Given the description of an element on the screen output the (x, y) to click on. 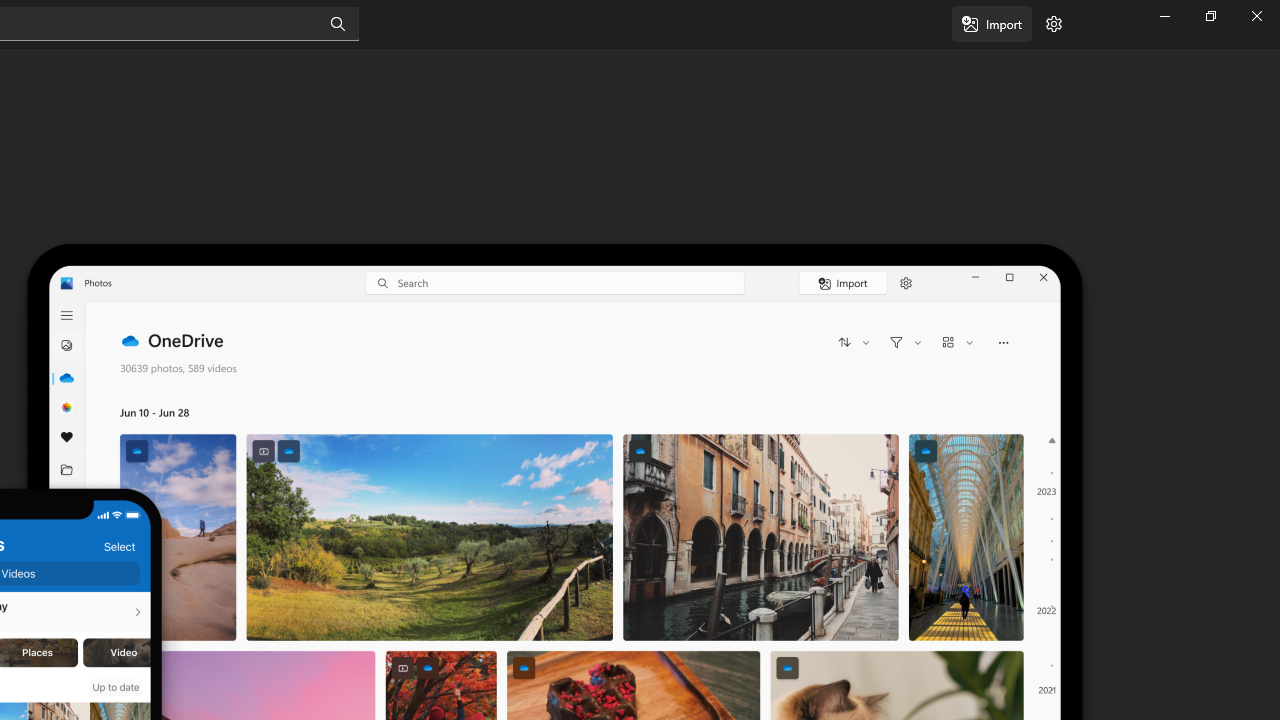
Close Photos (1256, 15)
Settings (1053, 24)
Minimize Photos (1164, 15)
Restore Photos (1210, 15)
Import photos (991, 24)
